Given the description of an element on the screen output the (x, y) to click on. 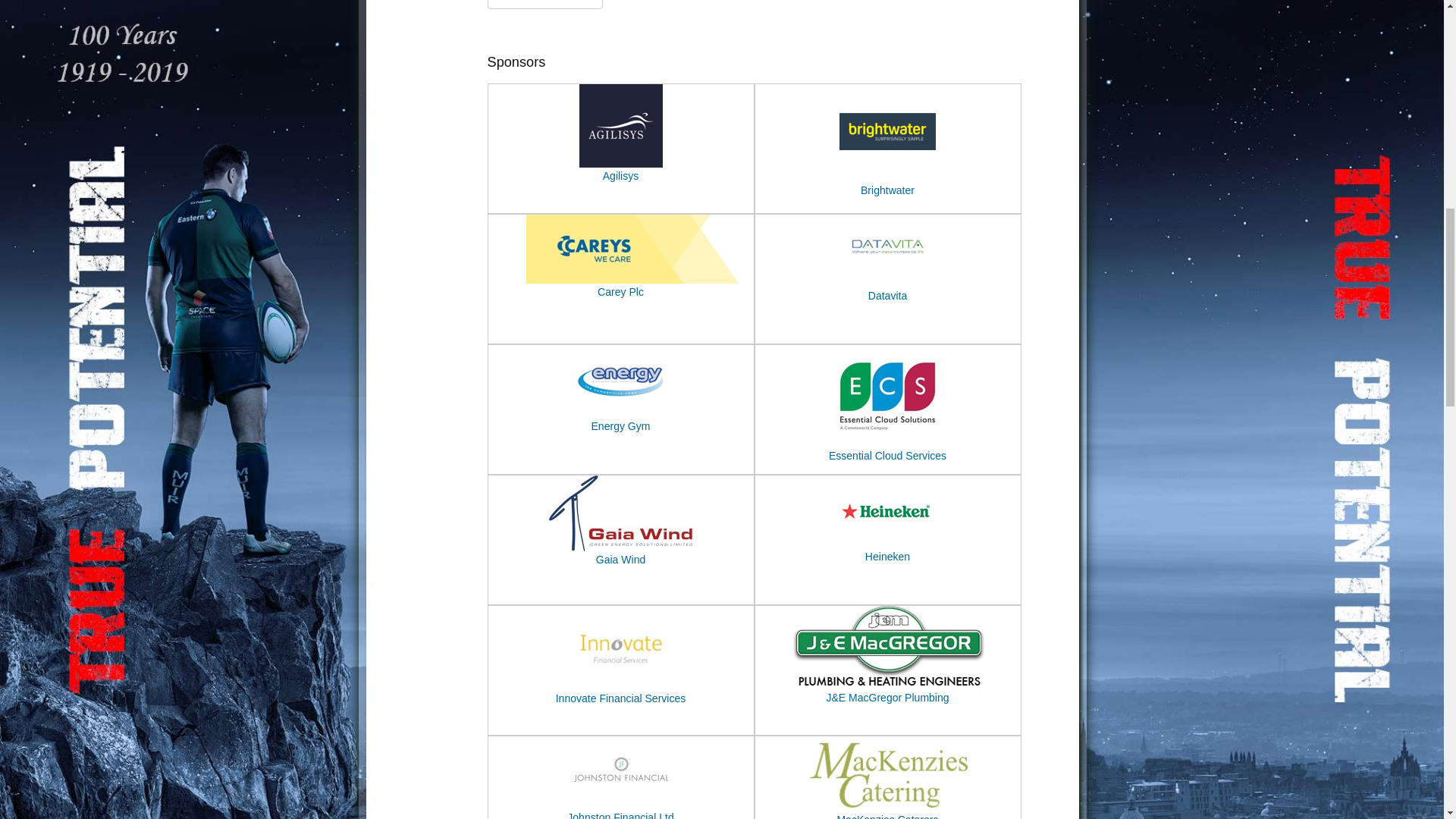
Brightwater (887, 190)
Agilisys (620, 163)
Brightwater (888, 178)
Boroughmuir Bears - Our Super6 Side (544, 0)
Agilisys (620, 175)
Carey Plc (631, 280)
